Given the description of an element on the screen output the (x, y) to click on. 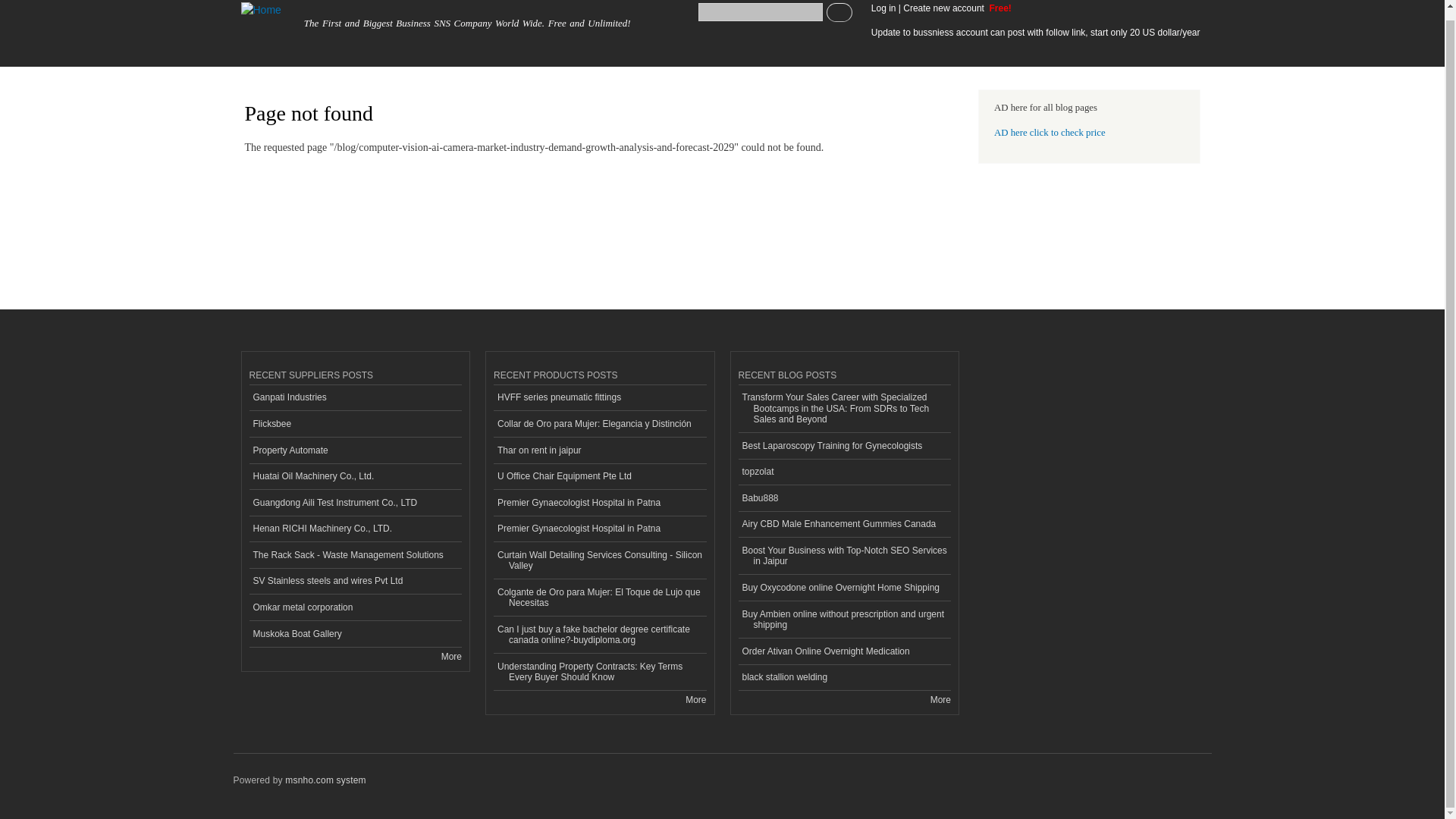
Airy CBD Male Enhancement Gummies Canada (845, 524)
Omkar metal corporation (354, 607)
Enter the terms you wish to search for. (760, 12)
Log in (883, 8)
Home (262, 14)
Boost Your Business with Top-Notch SEO Services in Jaipur (845, 555)
Order Ativan Online Overnight Medication (845, 651)
Best Laparoscopy Training for Gynecologists (845, 446)
Read the latest suppliers entries. (451, 656)
